Given the description of an element on the screen output the (x, y) to click on. 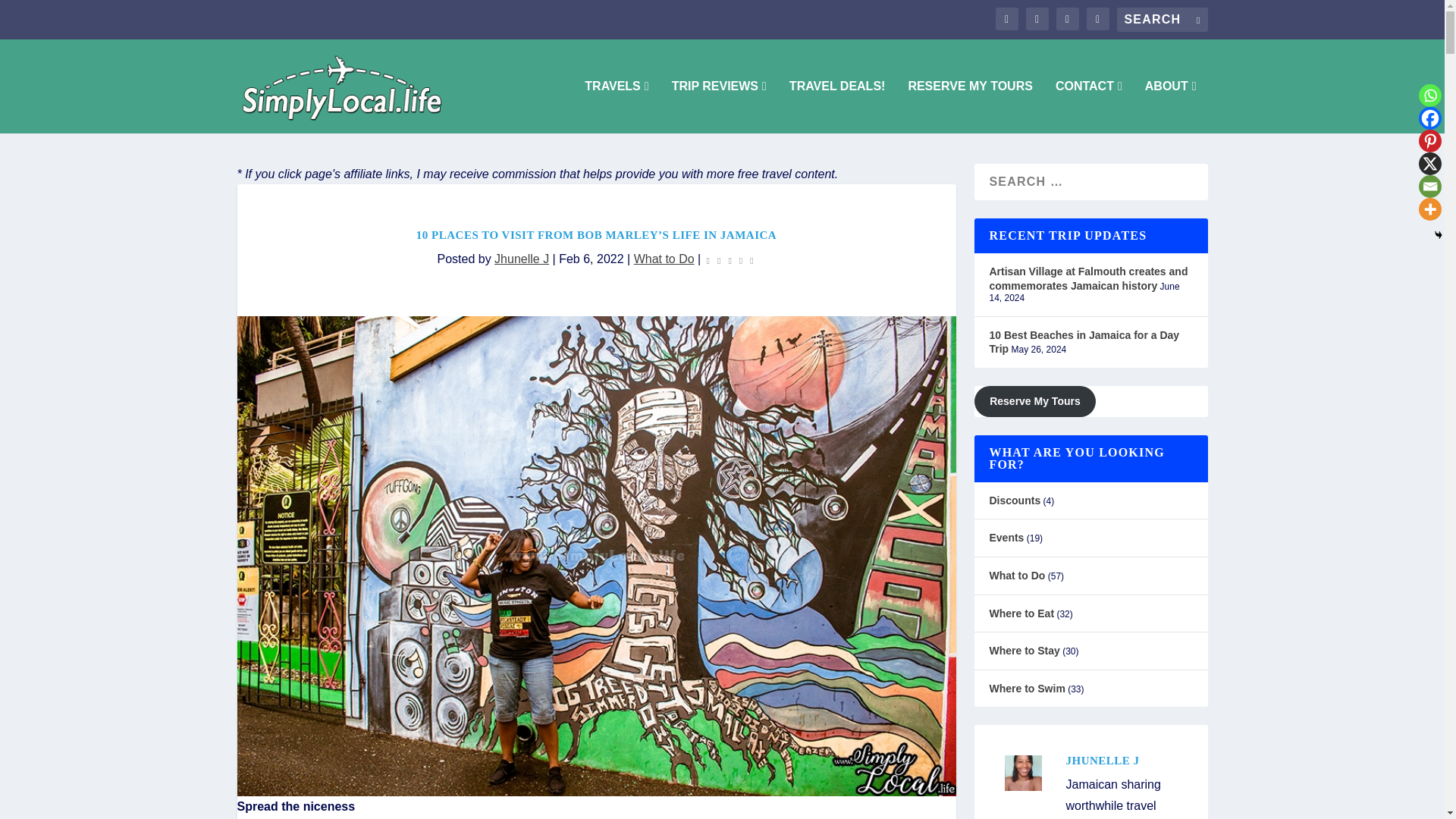
Posts by Jhunelle J (521, 258)
Search for: (1161, 19)
TRIP REVIEWS (719, 106)
TRAVELS (616, 106)
Rating: 0.00 (729, 259)
